Given the description of an element on the screen output the (x, y) to click on. 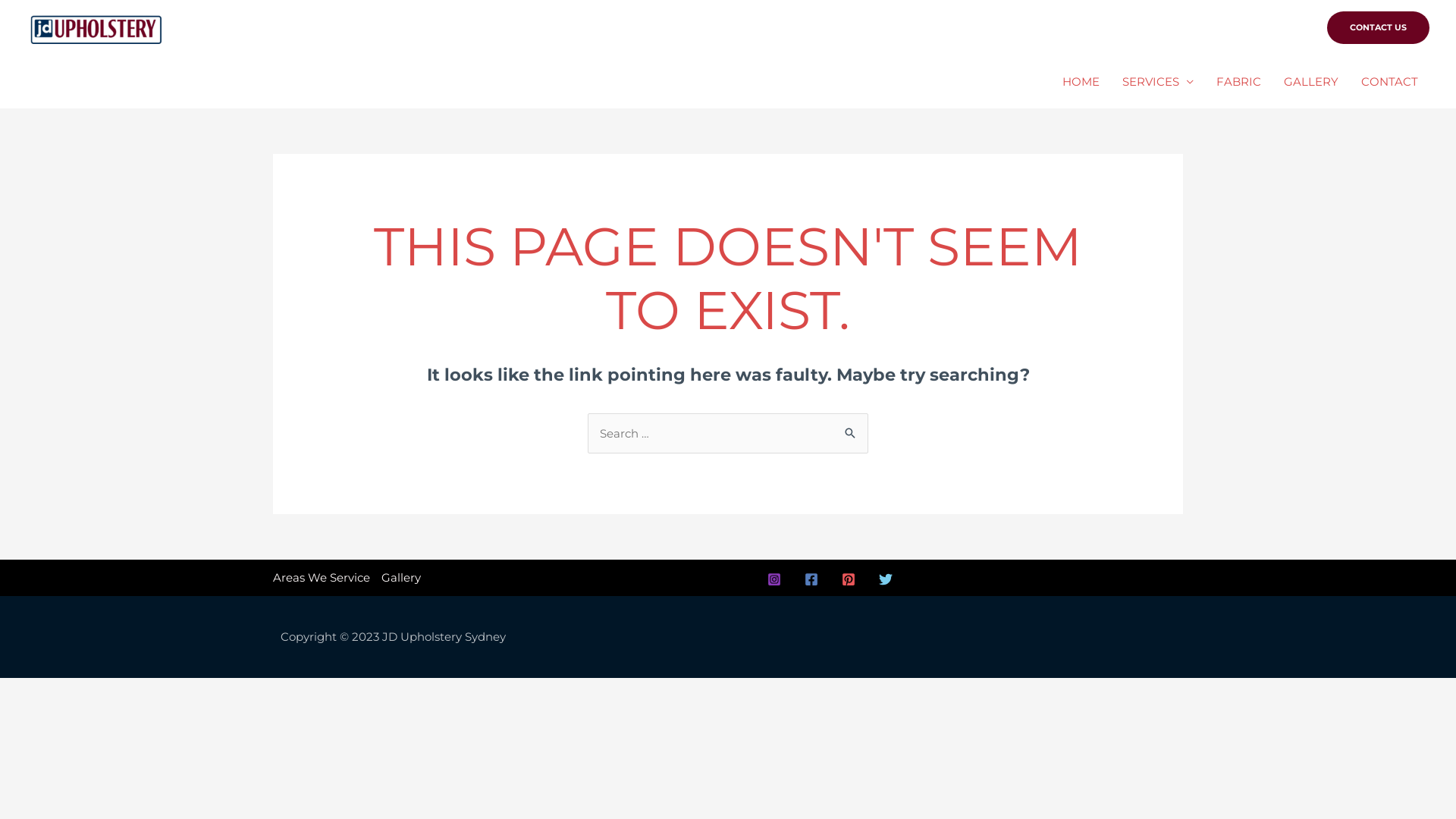
CONTACT Element type: text (1389, 81)
SERVICES Element type: text (1157, 81)
HOME Element type: text (1080, 81)
Gallery Element type: text (398, 577)
Areas We Service Element type: text (324, 577)
GALLERY Element type: text (1310, 81)
CONTACT US Element type: text (1378, 27)
Search Element type: text (851, 428)
FABRIC Element type: text (1238, 81)
